Given the description of an element on the screen output the (x, y) to click on. 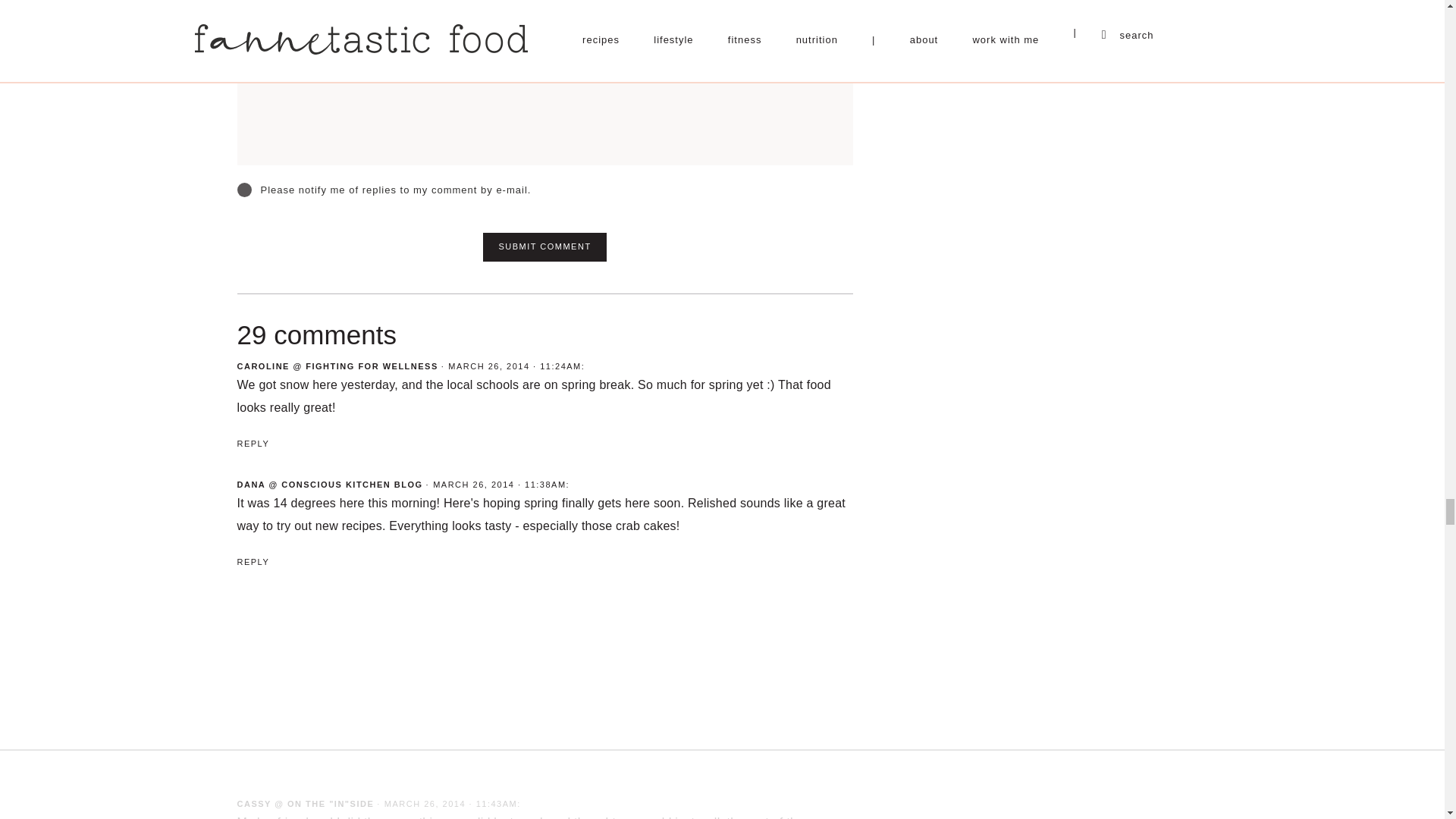
Submit comment (544, 246)
replies (242, 189)
